Given the description of an element on the screen output the (x, y) to click on. 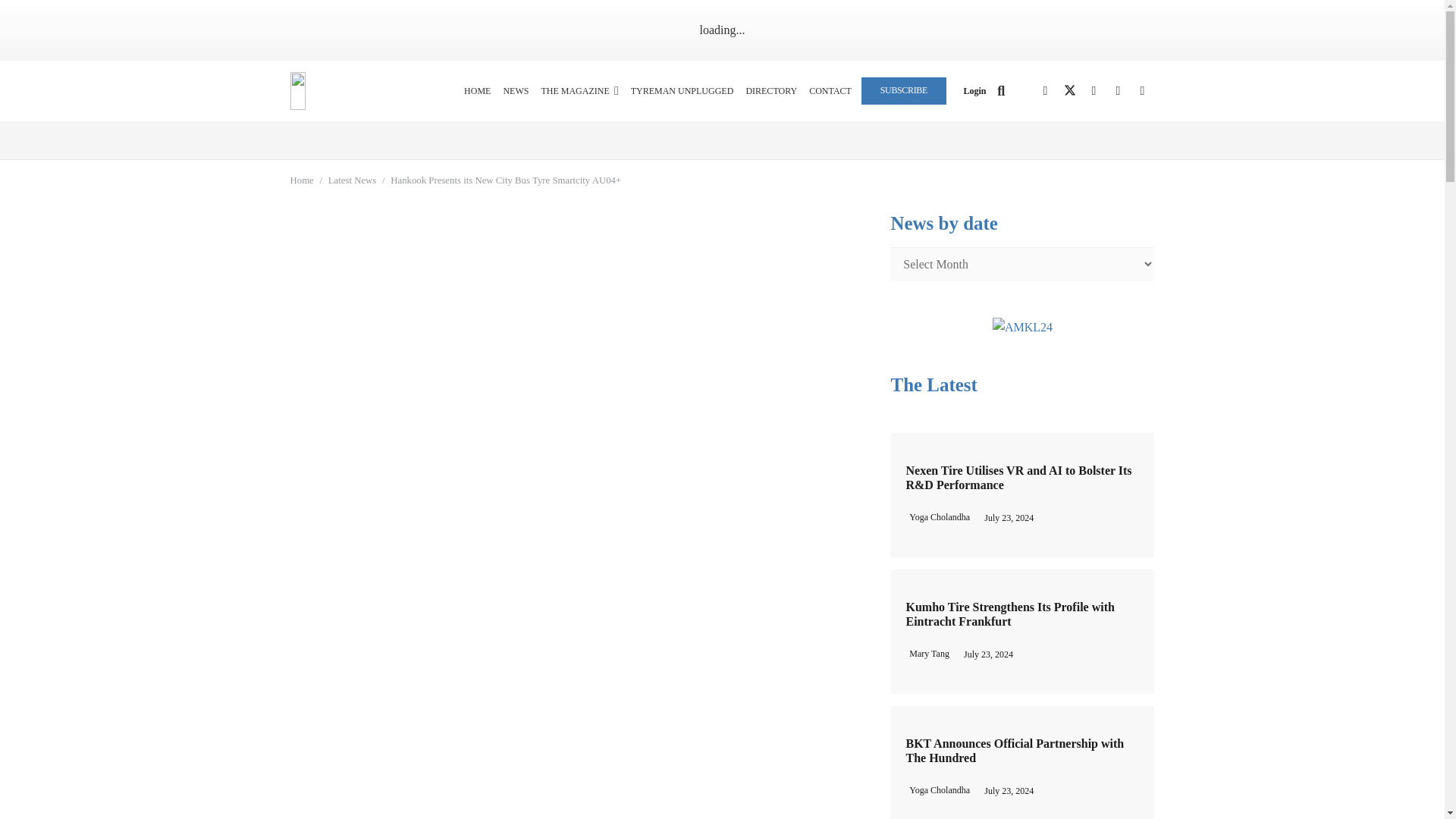
Facebook (1044, 90)
CONTACT (830, 90)
LinkedIn (1093, 90)
Twitter (1069, 90)
SUBSCRIBE (904, 90)
Login (973, 90)
YouTube (1117, 90)
Latest News (353, 180)
WhatsApp (1141, 90)
TYREMAN UNPLUGGED (681, 90)
Home (301, 180)
THE MAGAZINE (579, 90)
DIRECTORY (771, 90)
